Given the description of an element on the screen output the (x, y) to click on. 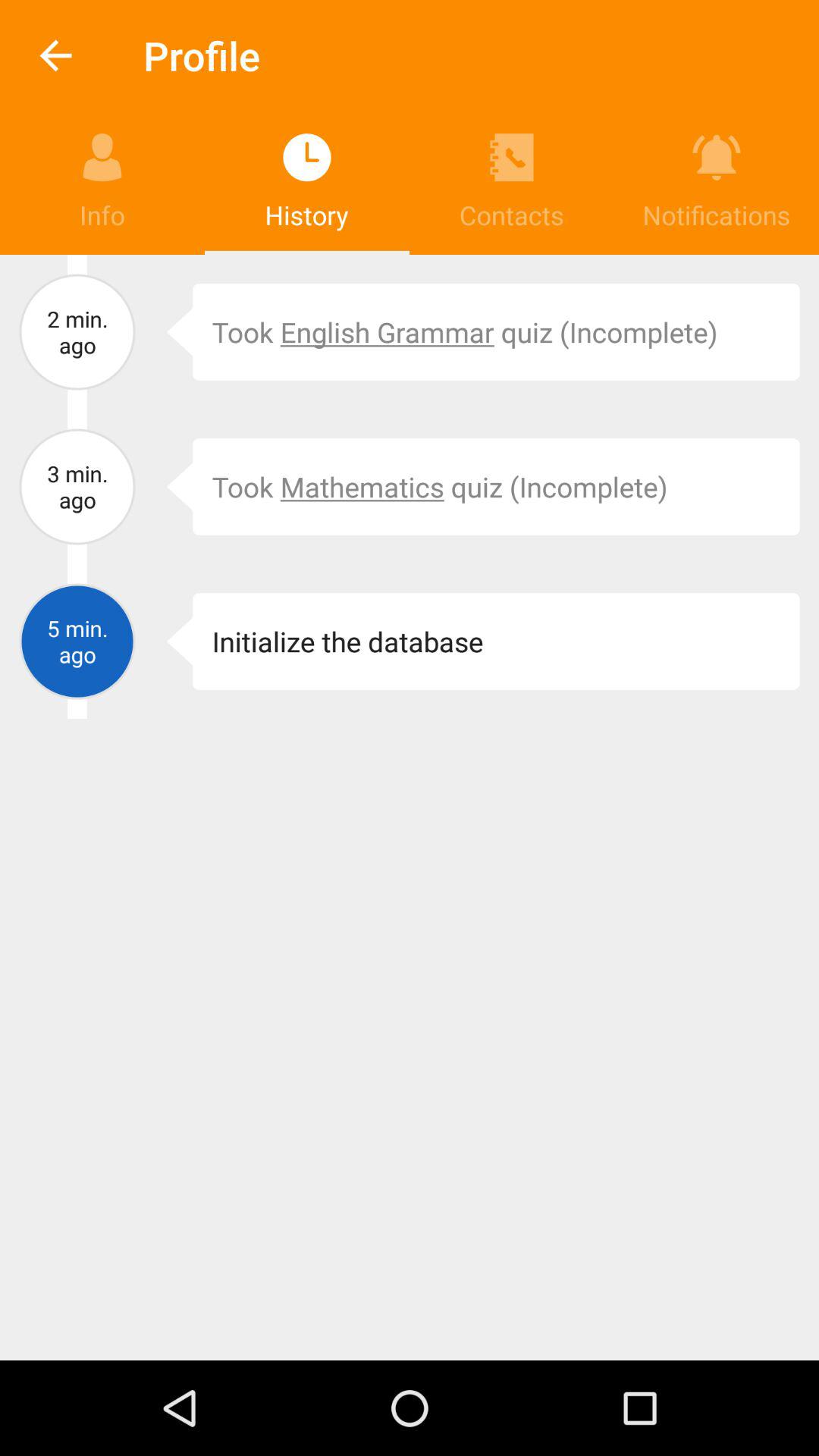
open app next to the 3 min. ago item (168, 486)
